Given the description of an element on the screen output the (x, y) to click on. 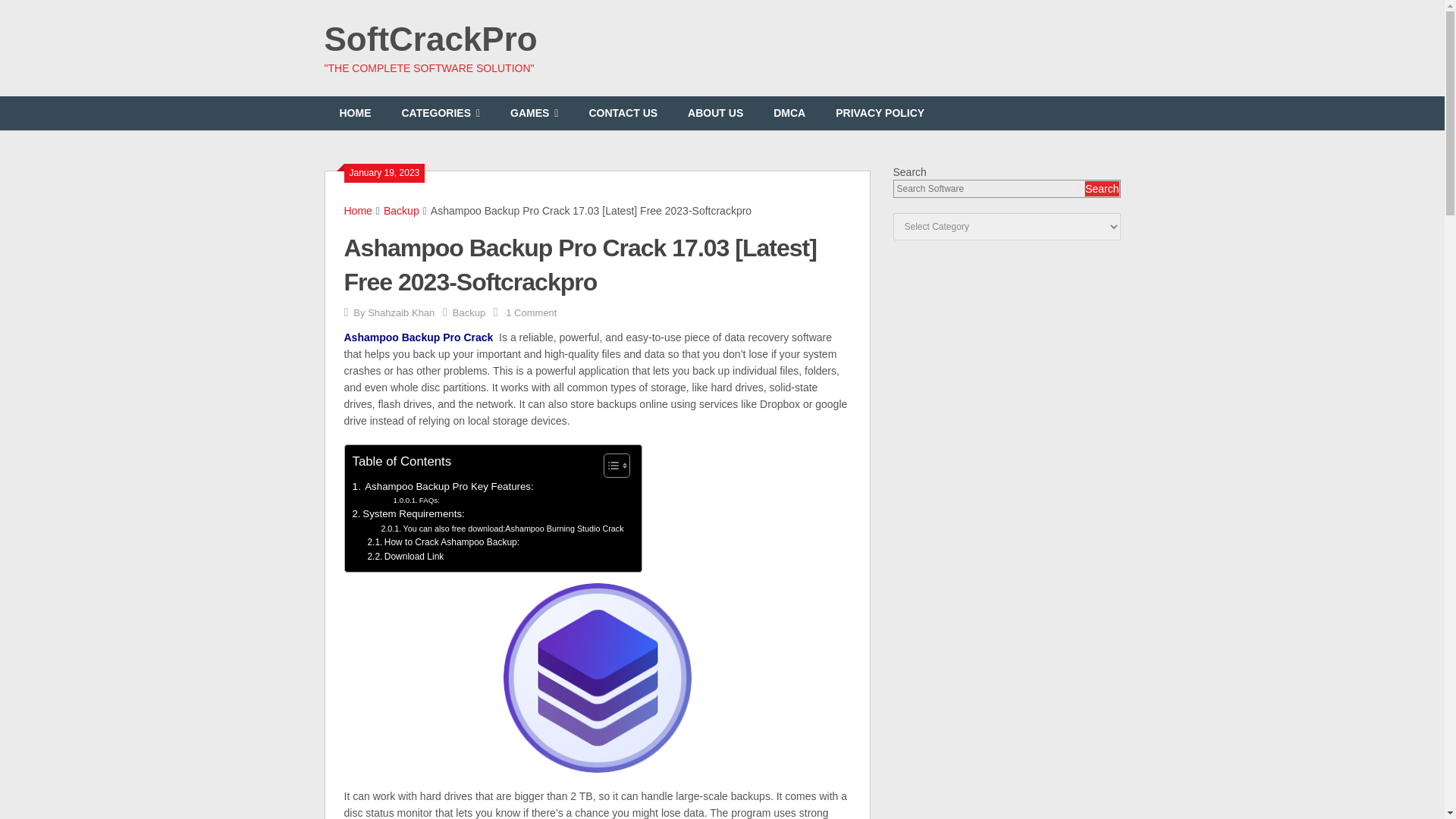
System Requirements: (408, 513)
DMCA (789, 113)
SoftCrackPro (430, 38)
GAMES (534, 113)
Backup (468, 312)
You can also free download:Ashampoo Burning Studio Crack  (503, 528)
Ashampoo Backup Pro Crack (418, 337)
PRIVACY POLICY (880, 113)
Posts by Shahzaib Khan (400, 312)
ABOUT US (715, 113)
FAQs: (416, 500)
1 Comment (530, 312)
FAQs: (416, 500)
Backup (401, 210)
